Given the description of an element on the screen output the (x, y) to click on. 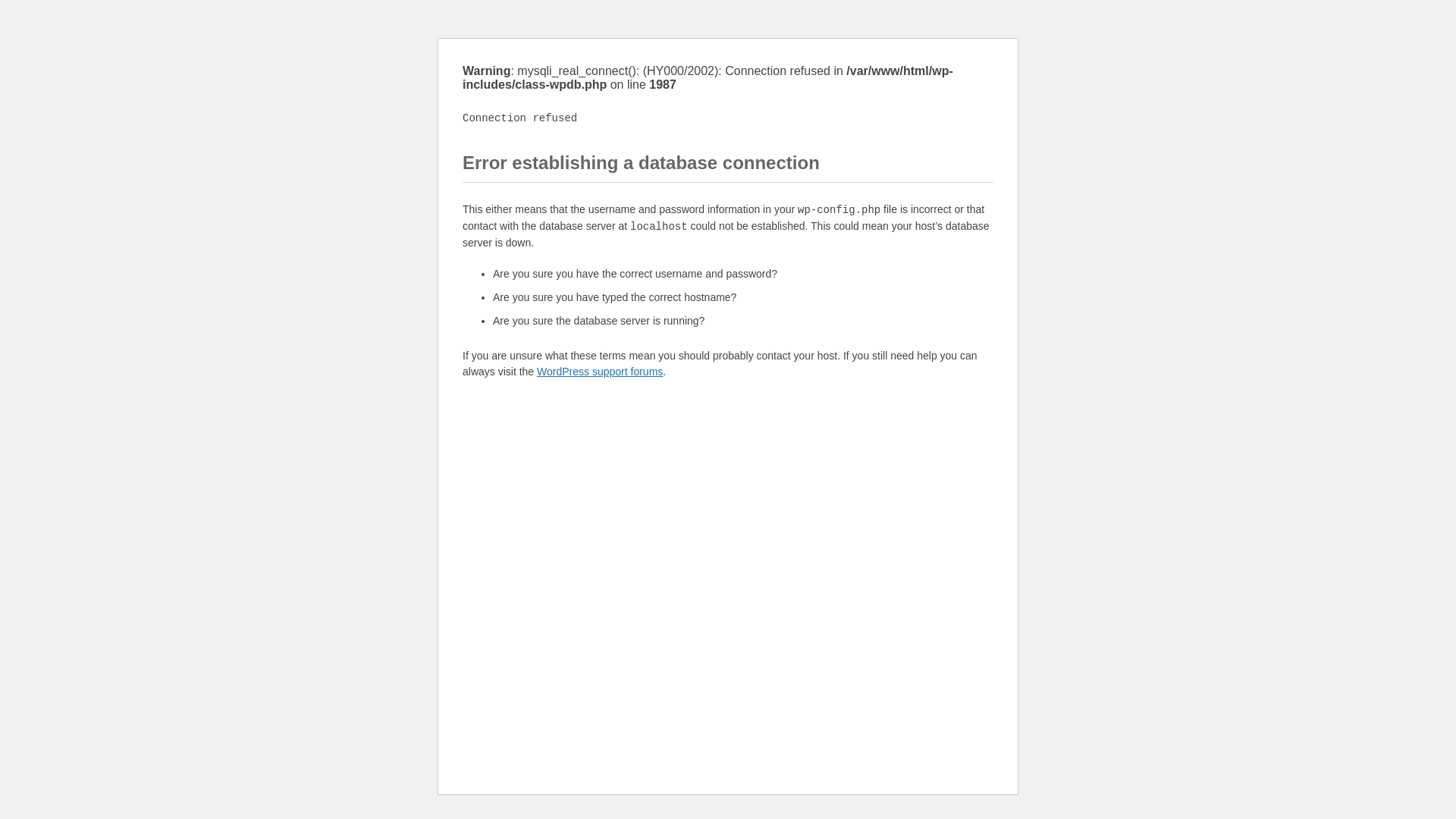
WordPress support forums (599, 371)
